Given the description of an element on the screen output the (x, y) to click on. 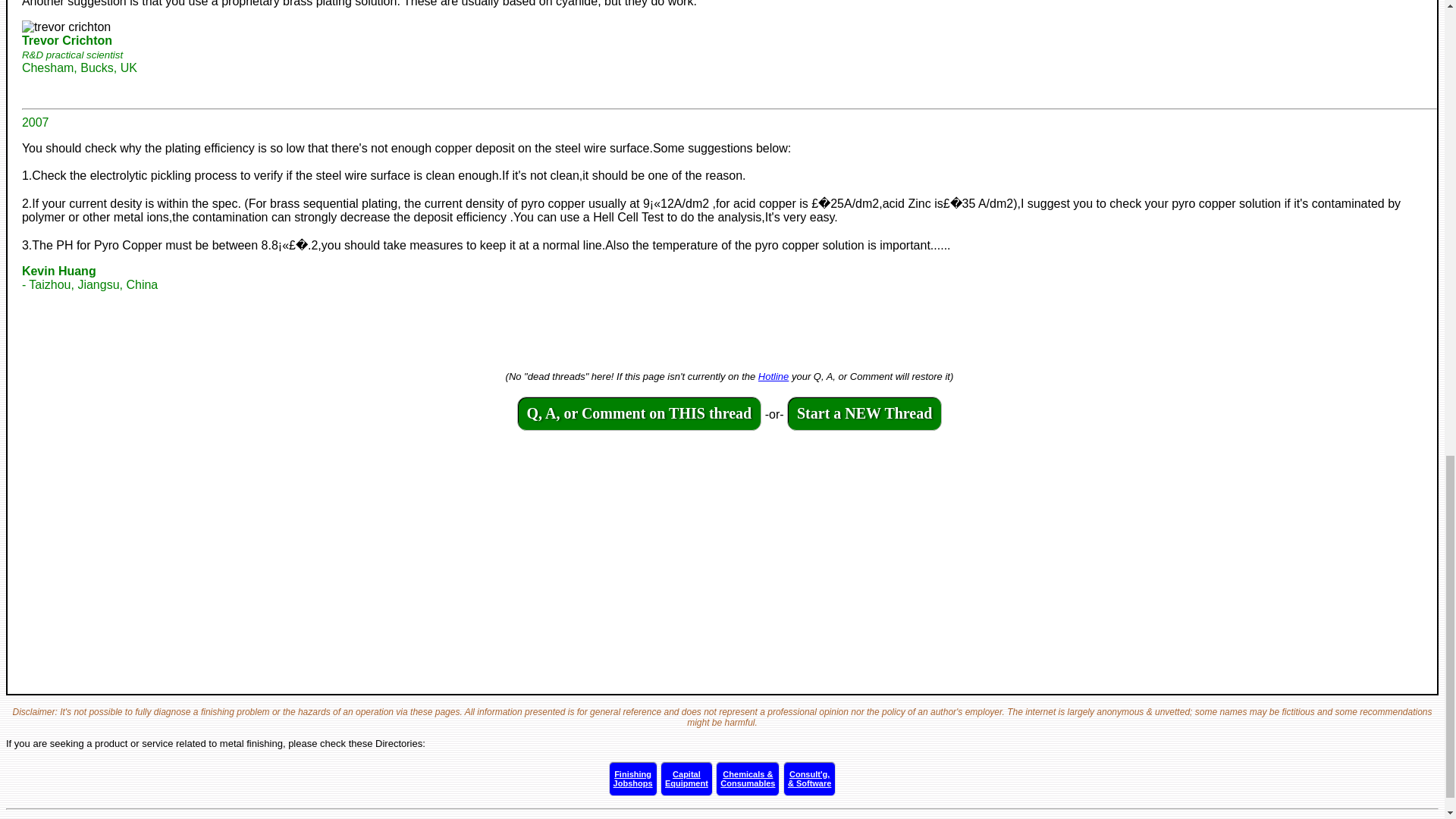
Start a NEW Thread (864, 413)
Q, A, or Comment on THIS thread (633, 778)
Hotline (638, 413)
